Given the description of an element on the screen output the (x, y) to click on. 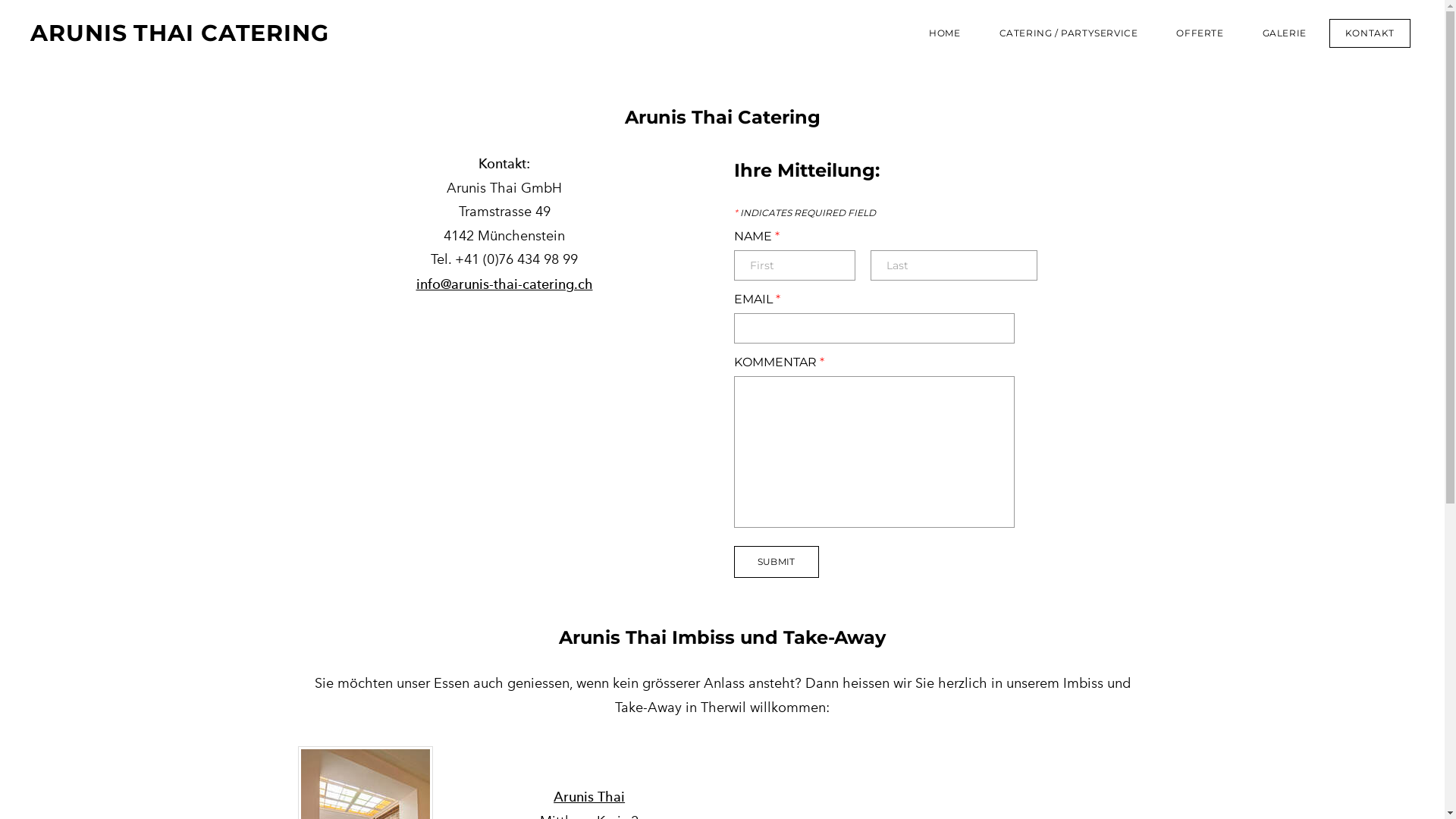
KONTAKT Element type: text (1369, 32)
SUBMIT Element type: text (776, 561)
HOME Element type: text (944, 32)
info@arunis-thai-catering.ch Element type: text (503, 283)
GALERIE Element type: text (1284, 32)
CATERING / PARTYSERVICE Element type: text (1068, 32)
ARUNIS THAI CATERING Element type: text (289, 32)
Arunis Thai Element type: text (588, 796)
OFFERTE Element type: text (1199, 32)
